Given the description of an element on the screen output the (x, y) to click on. 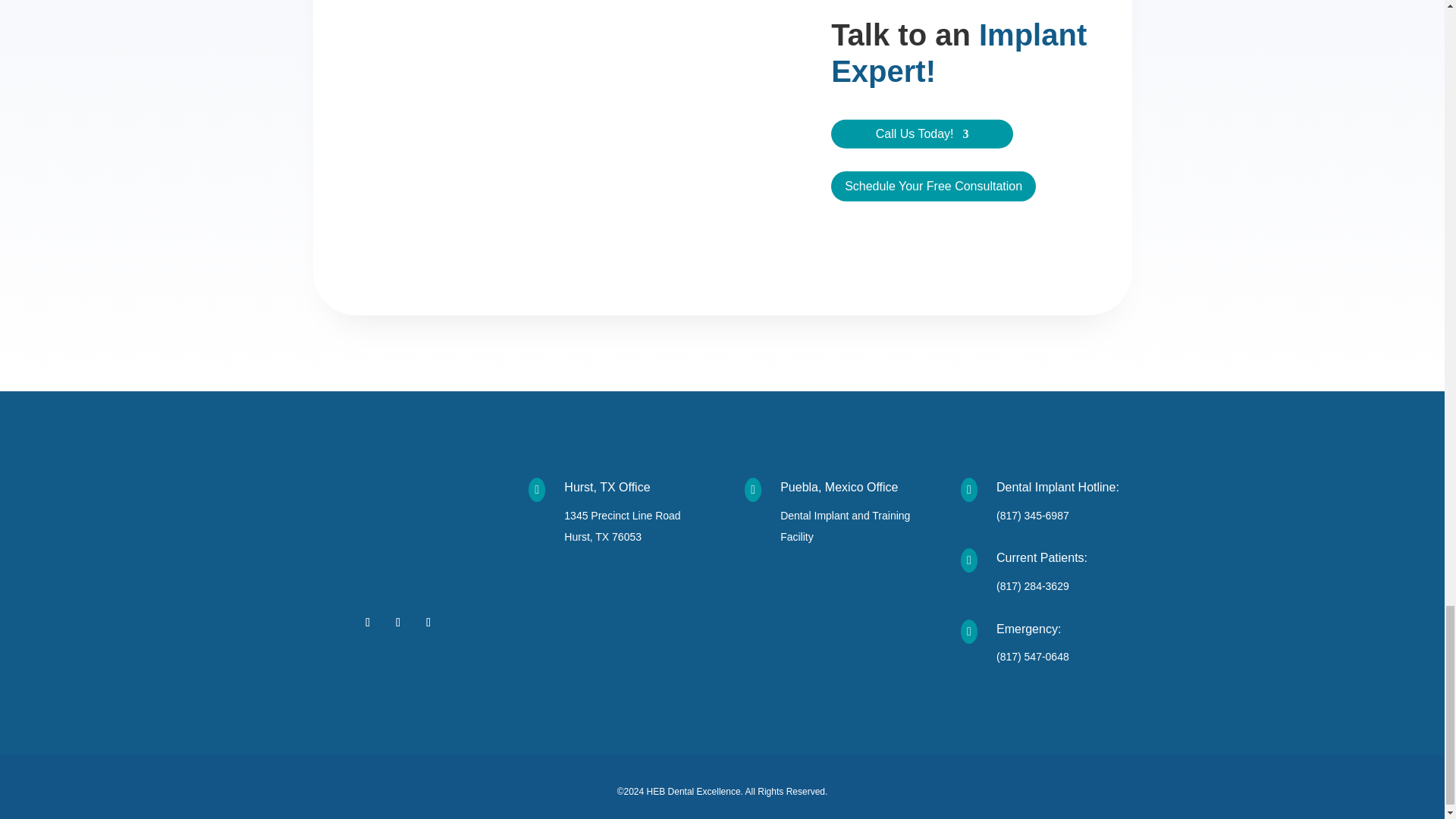
logo-hebdental (397, 532)
Follow on Instagram (397, 622)
Schedule Your Free Consultation (933, 185)
HEB Dental - Service Cards (561, 143)
Call Us Today! (922, 135)
Follow on Youtube (428, 622)
Follow on Facebook (367, 622)
